Given the description of an element on the screen output the (x, y) to click on. 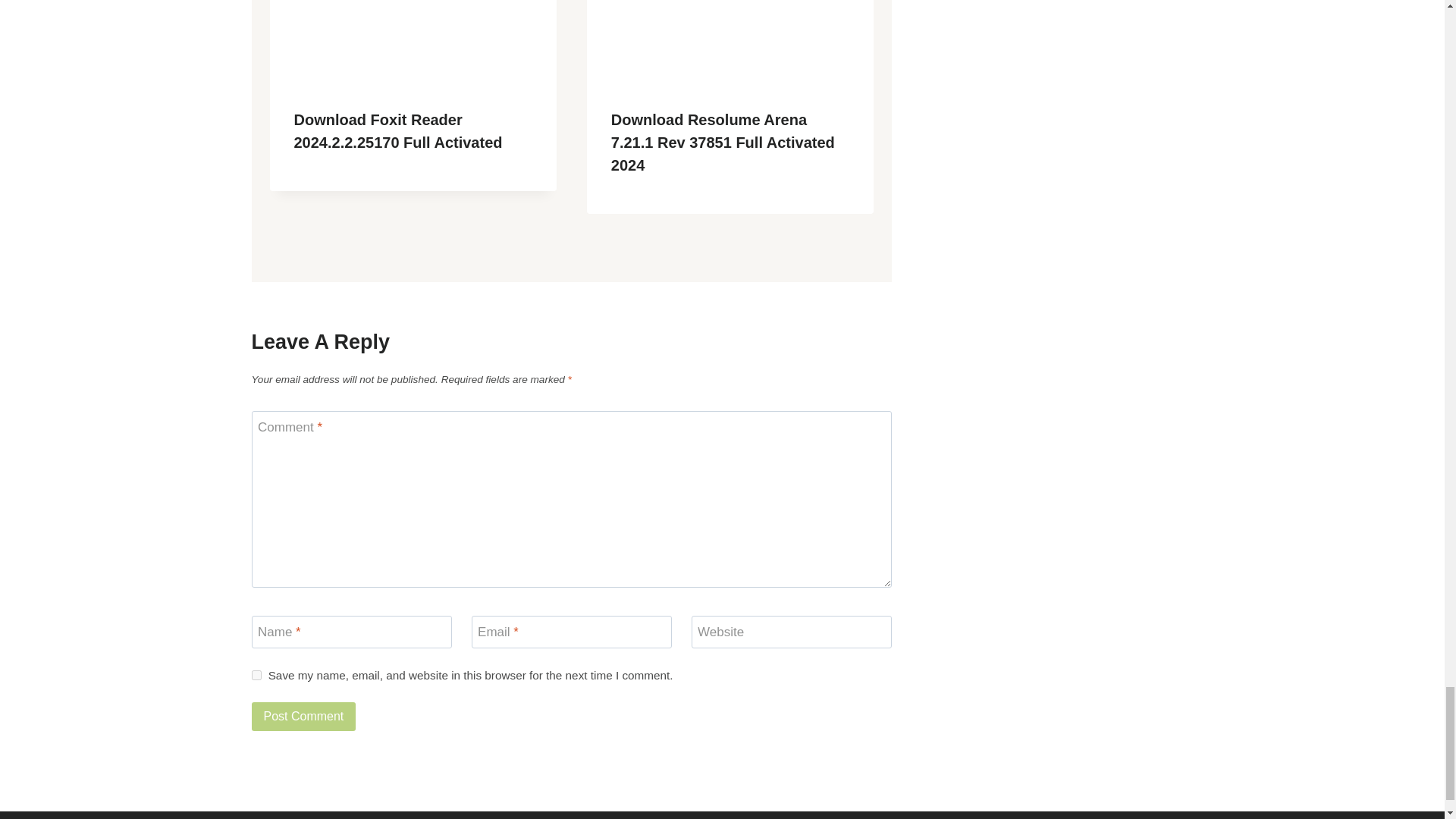
Post Comment (303, 716)
yes (256, 675)
